Given the description of an element on the screen output the (x, y) to click on. 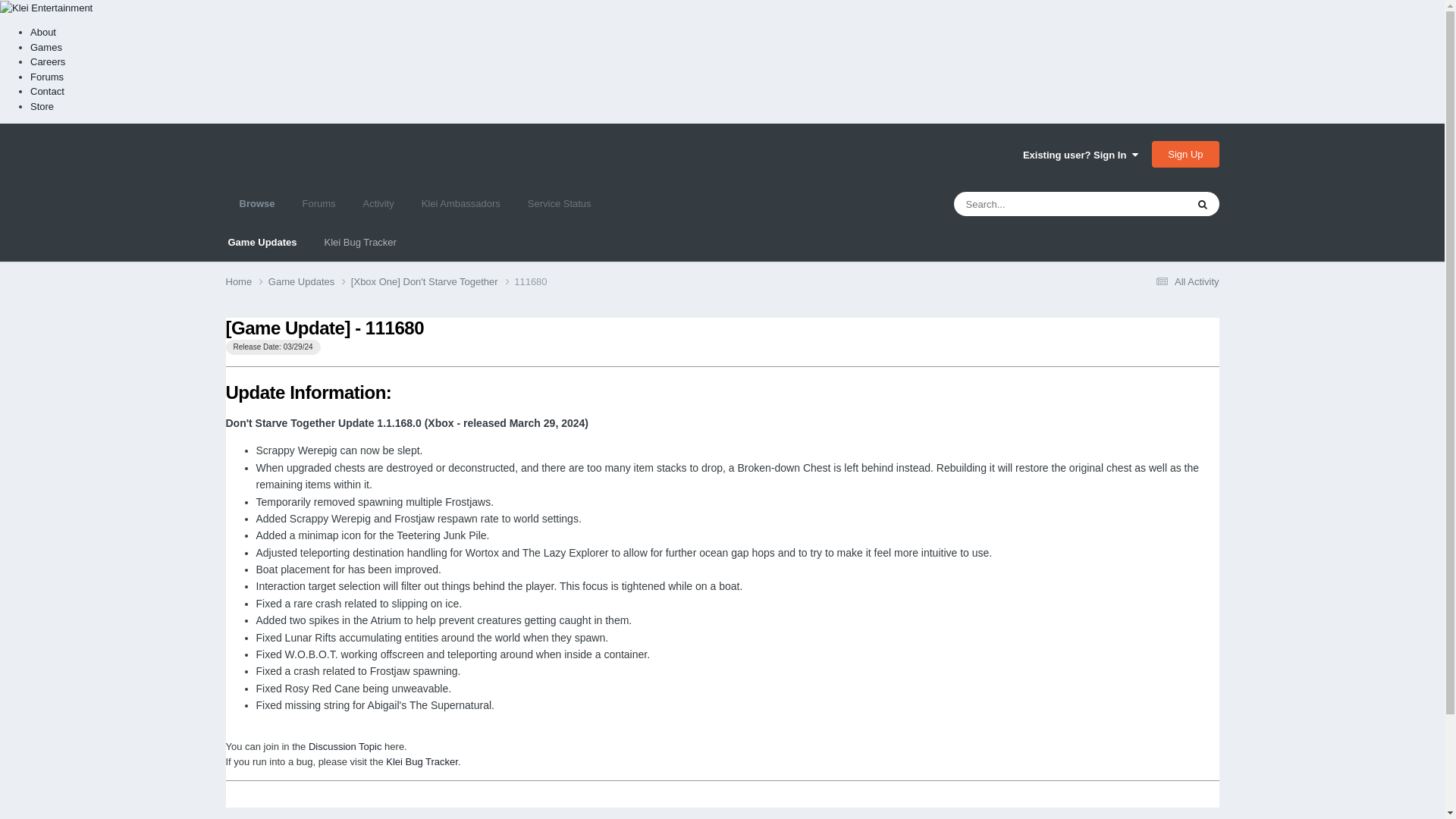
Home (246, 281)
Klei Bug Tracker (360, 242)
Store (41, 106)
Existing user? Sign In   (1080, 154)
Service Status (559, 203)
Klei Ambassadors (460, 203)
Browse (256, 203)
Careers (47, 61)
Game Updates (262, 242)
Games (46, 47)
About (43, 31)
Activity (378, 203)
Klei Entertainment (46, 7)
Sign Up (1184, 153)
Contact (47, 91)
